Given the description of an element on the screen output the (x, y) to click on. 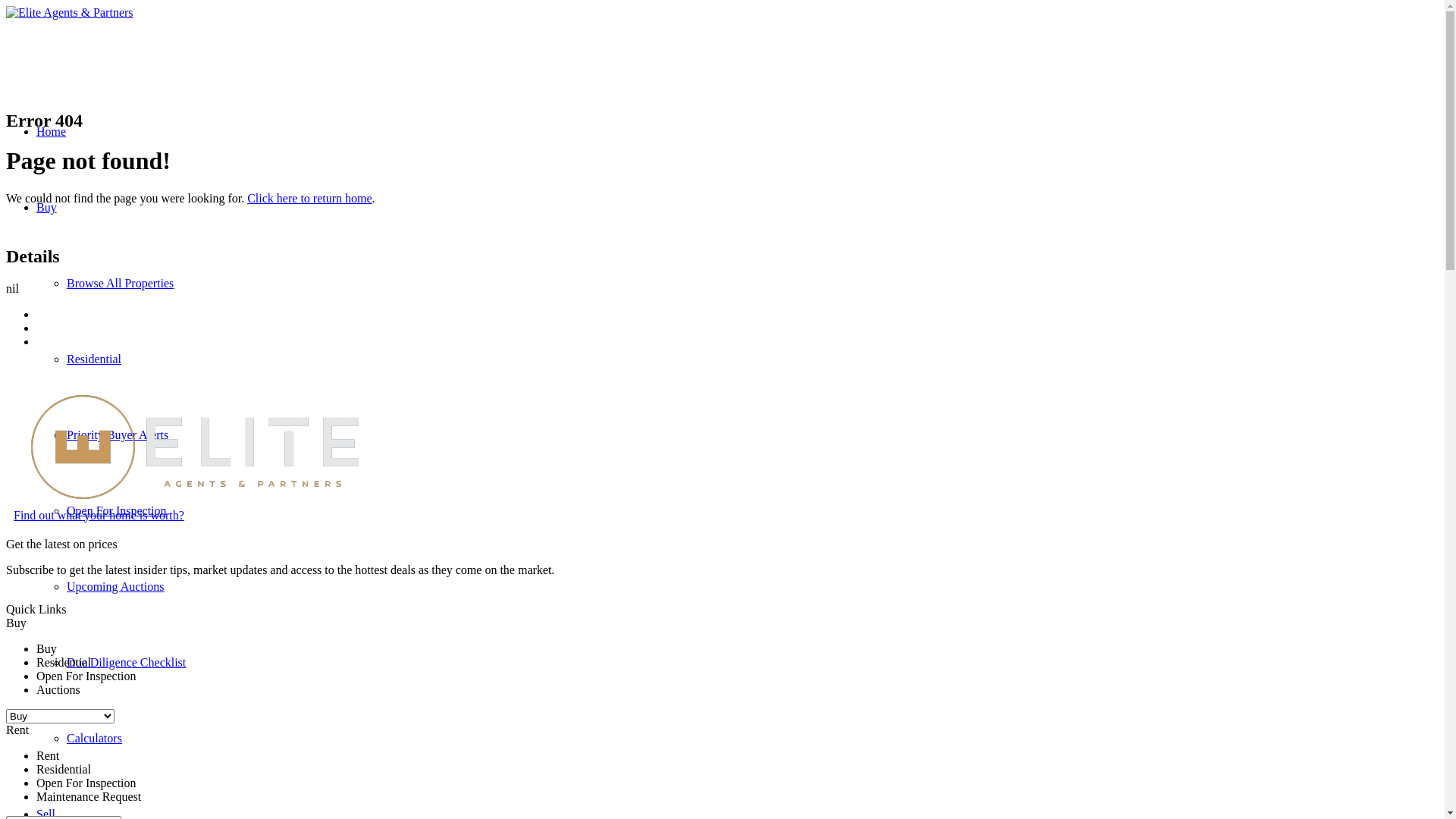
Residential Element type: text (93, 358)
Open For Inspection Element type: text (116, 510)
Home Element type: text (50, 131)
Browse All Properties Element type: text (119, 282)
Buy Element type: text (46, 206)
Due Diligence Checklist Element type: text (125, 661)
Find out what your home is worth? Element type: text (98, 514)
03 8726 0690 Element type: text (39, 87)
Calculators Element type: text (94, 737)
Upcoming Auctions Element type: text (114, 586)
Priority Buyer Alerts Element type: text (117, 434)
Click here to return home Element type: text (309, 197)
Subscribe Element type: text (29, 595)
